Given the description of an element on the screen output the (x, y) to click on. 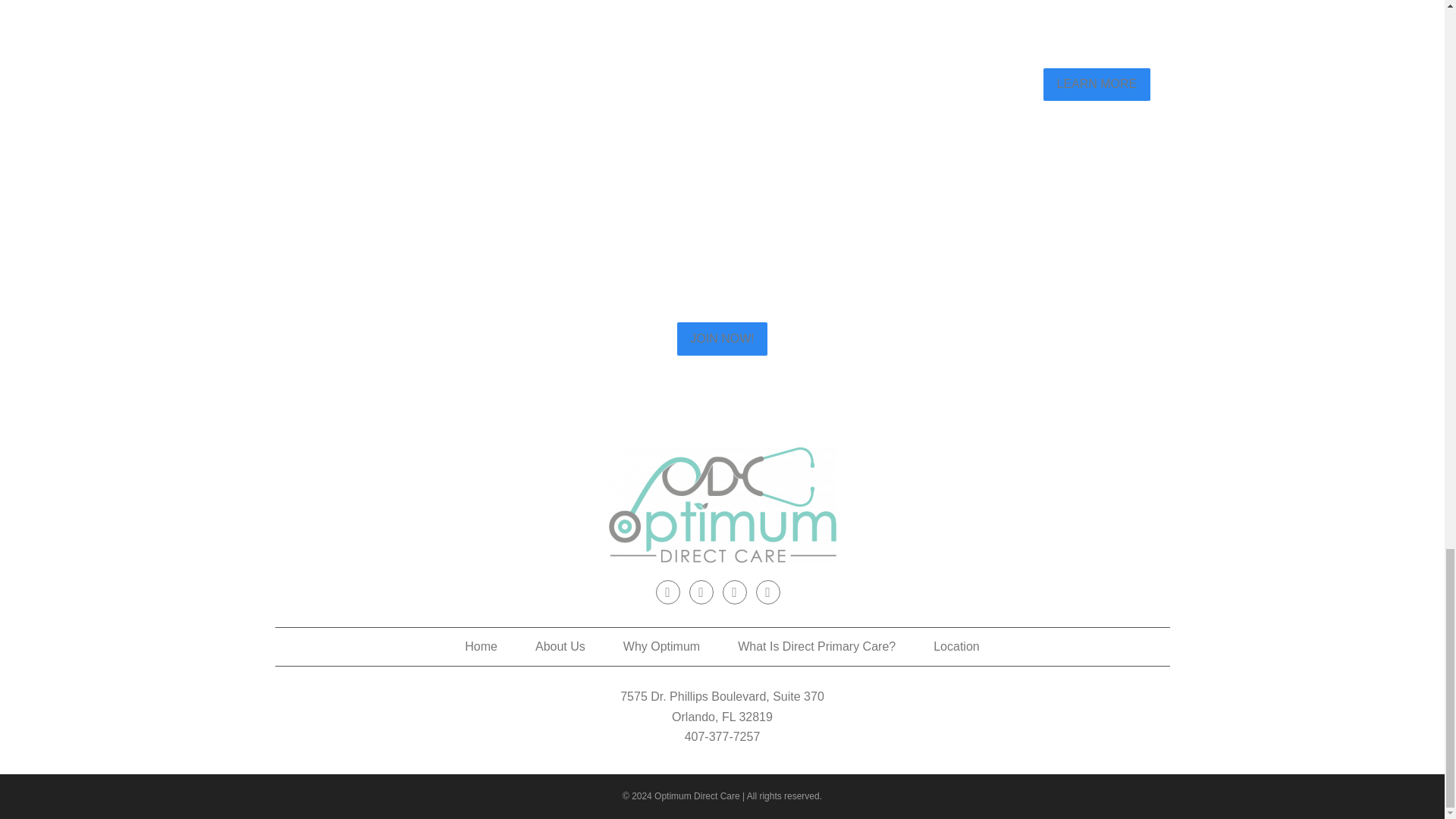
Location (956, 645)
Youtube (766, 591)
407-377-7257 (722, 736)
Pinterest (733, 591)
What Is Direct Primary Care? (816, 645)
Facebook (667, 591)
Instagram (700, 591)
Youtube (766, 591)
Facebook (667, 591)
Home (480, 645)
Why Optimum (661, 645)
LEARN MORE (1096, 84)
JOIN NOW! (722, 338)
Instagram (700, 591)
Pinterest (733, 591)
